Given the description of an element on the screen output the (x, y) to click on. 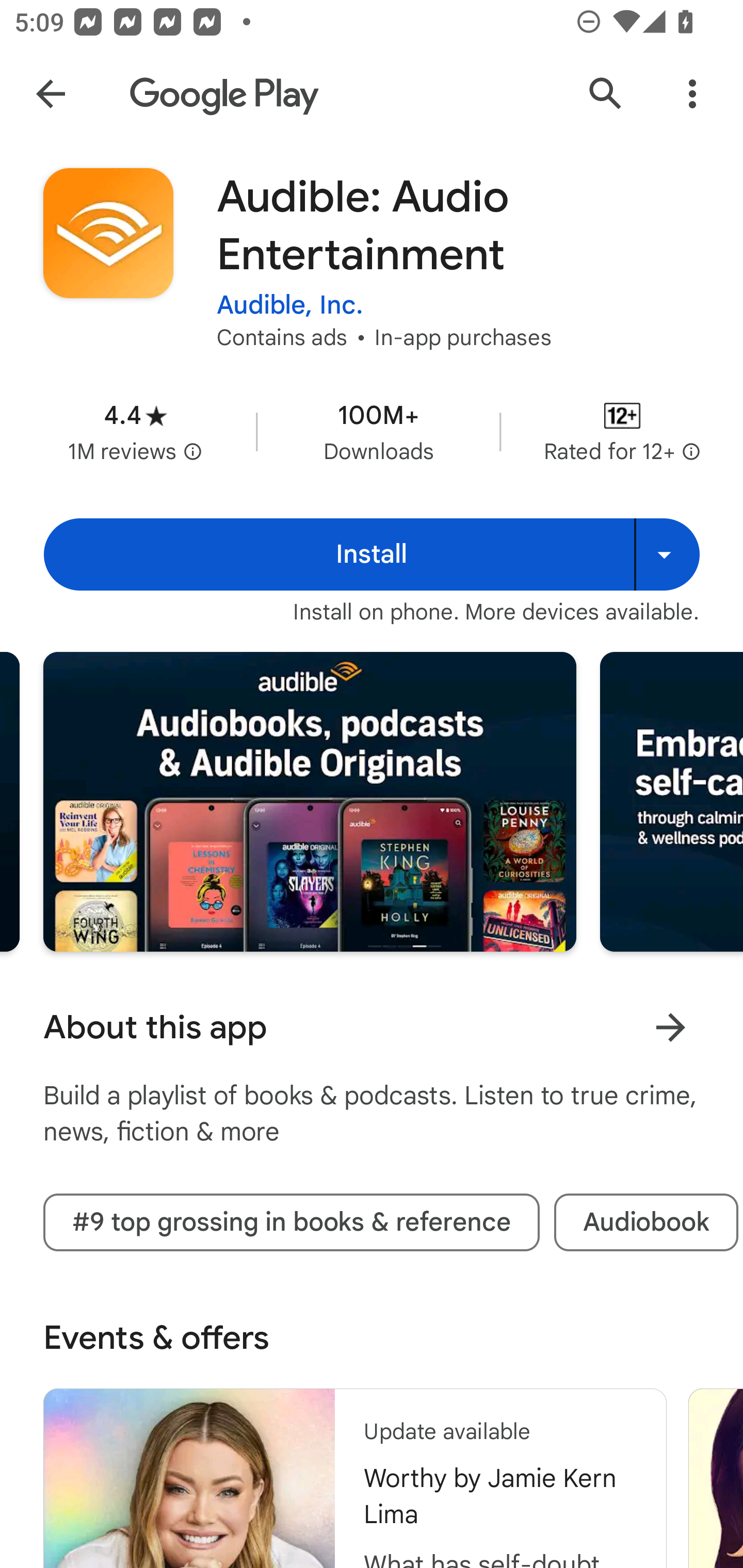
Navigate up (50, 93)
Search Google Play (605, 93)
More Options (692, 93)
Audible, Inc. (290, 304)
Average rating 4.4 stars in 1 million reviews (135, 431)
Content rating Rated for 12+ (622, 431)
Install Install Install on more devices (371, 554)
Install on more devices (667, 554)
Screenshot "1" of "8" (309, 801)
About this app Learn more About this app (371, 1027)
Learn more About this app (670, 1027)
#9 top grossing in books & reference tag (291, 1222)
Audiobook tag (646, 1222)
